Given the description of an element on the screen output the (x, y) to click on. 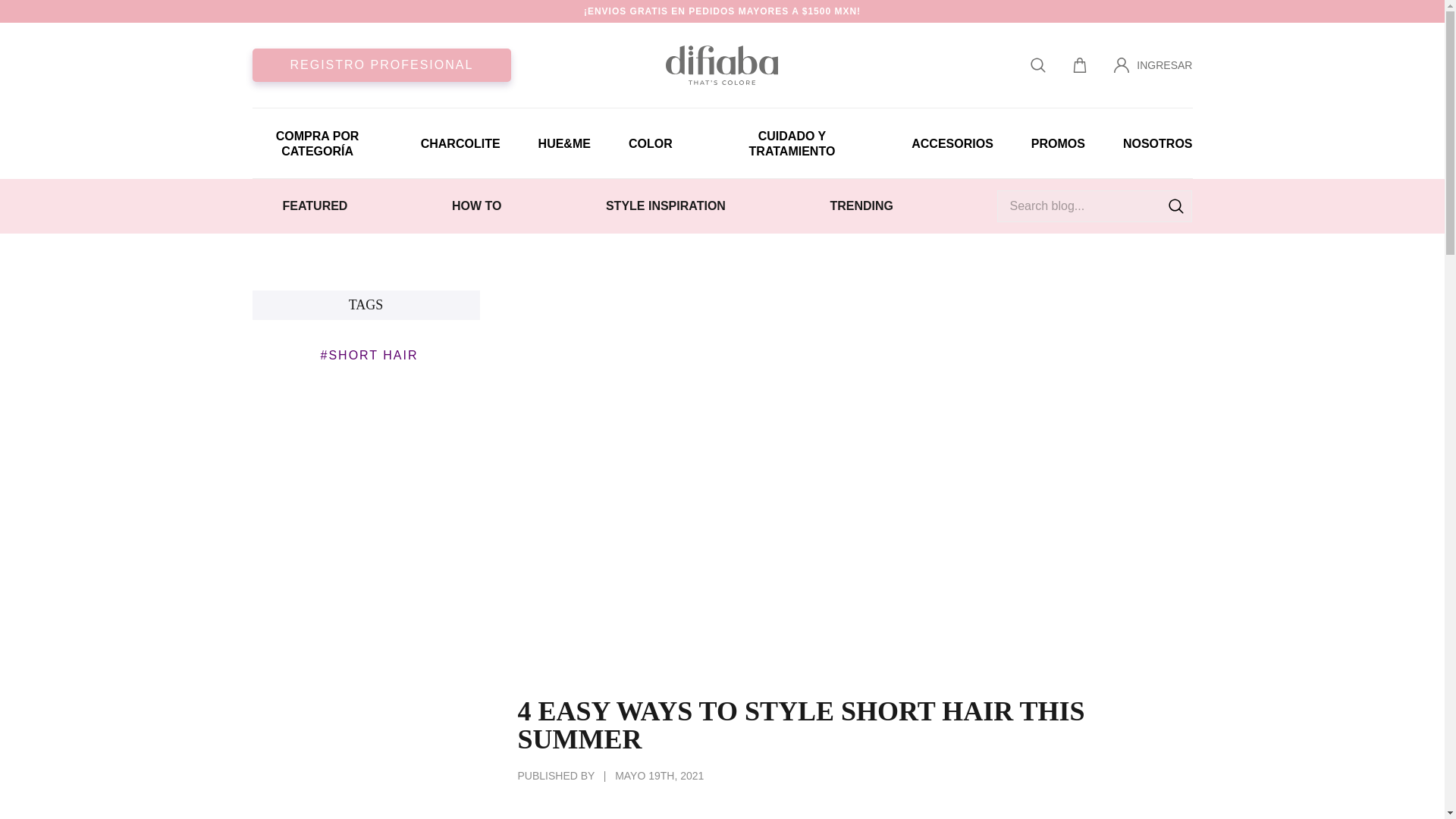
PROMOS (1057, 143)
REGISTRO PROFESIONAL (381, 64)
NOSOTROS (1157, 143)
COLOR (660, 143)
CUIDADO Y TRATAMIENTO (801, 143)
INGRESAR (1152, 64)
ACCESORIOS (951, 143)
CHARCOLITE (460, 143)
